Given the description of an element on the screen output the (x, y) to click on. 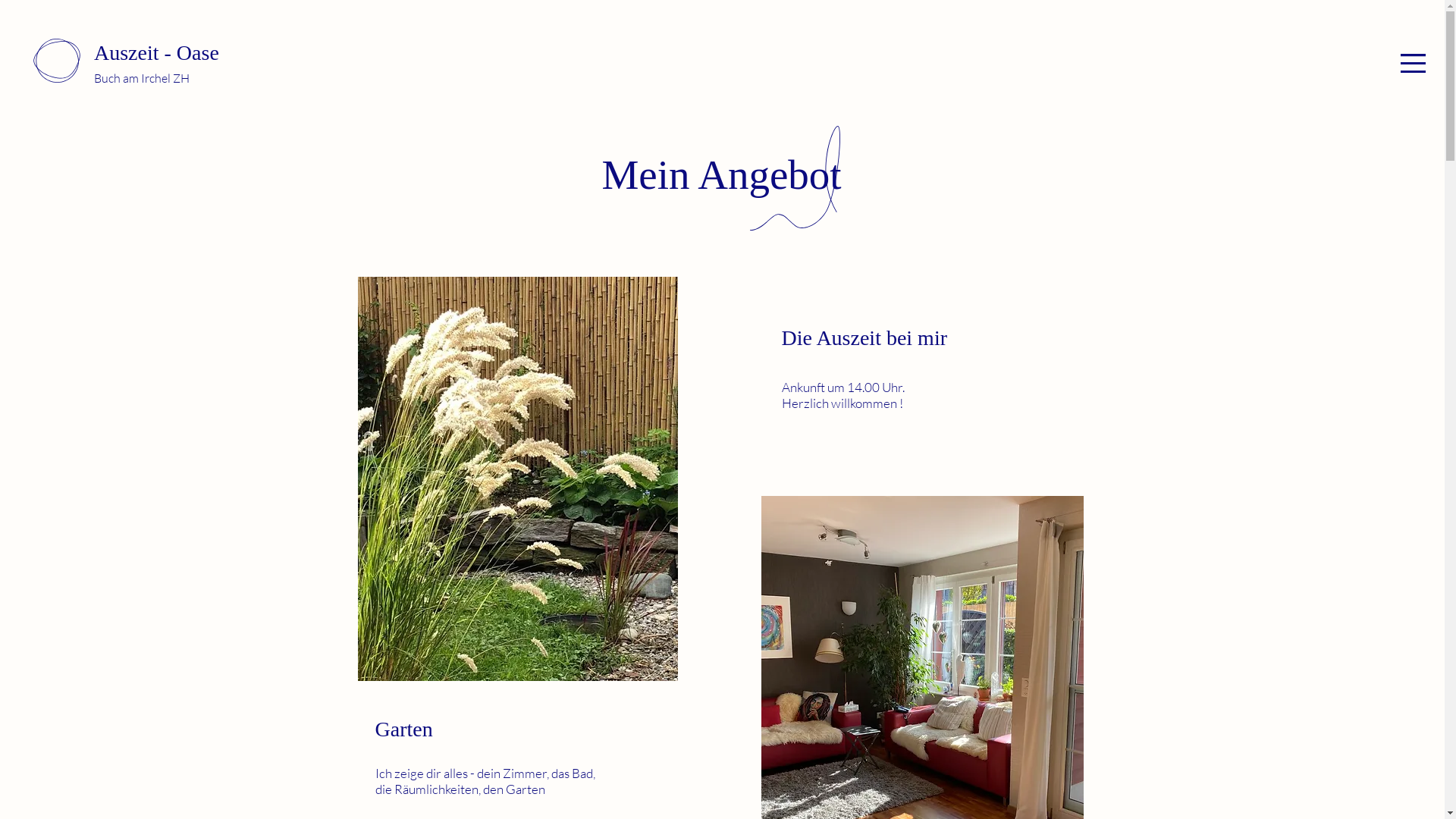
Auszeit - Oase Element type: text (156, 52)
Buch am Irchel ZH Element type: text (141, 77)
